Given the description of an element on the screen output the (x, y) to click on. 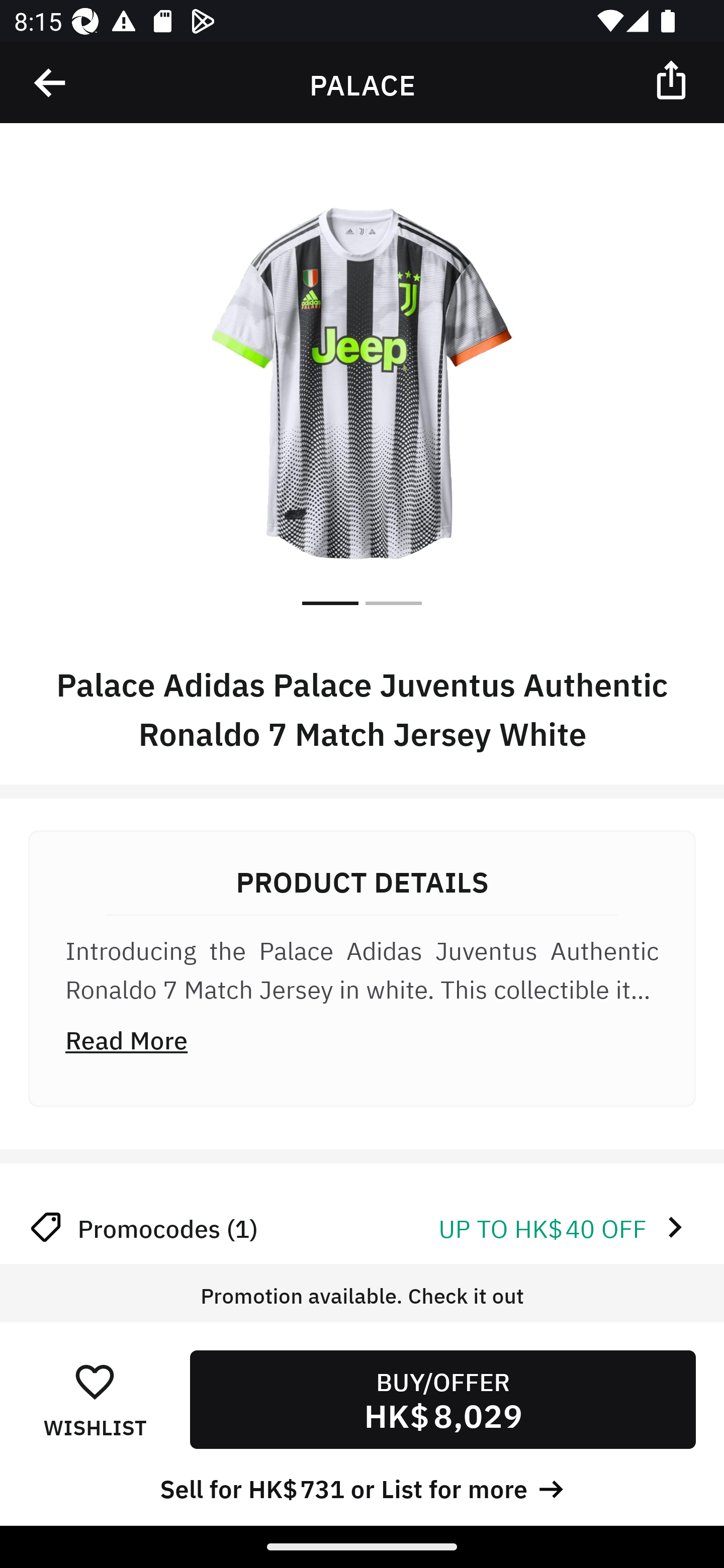
 (50, 83)
 (672, 79)
Promocodes (1) UP TO HK$ 40 OFF  (361, 1226)
BUY/OFFER HK$ 8,029 (442, 1399)
󰋕 (94, 1380)
Sell for HK$ 731 or List for more (361, 1486)
